Given the description of an element on the screen output the (x, y) to click on. 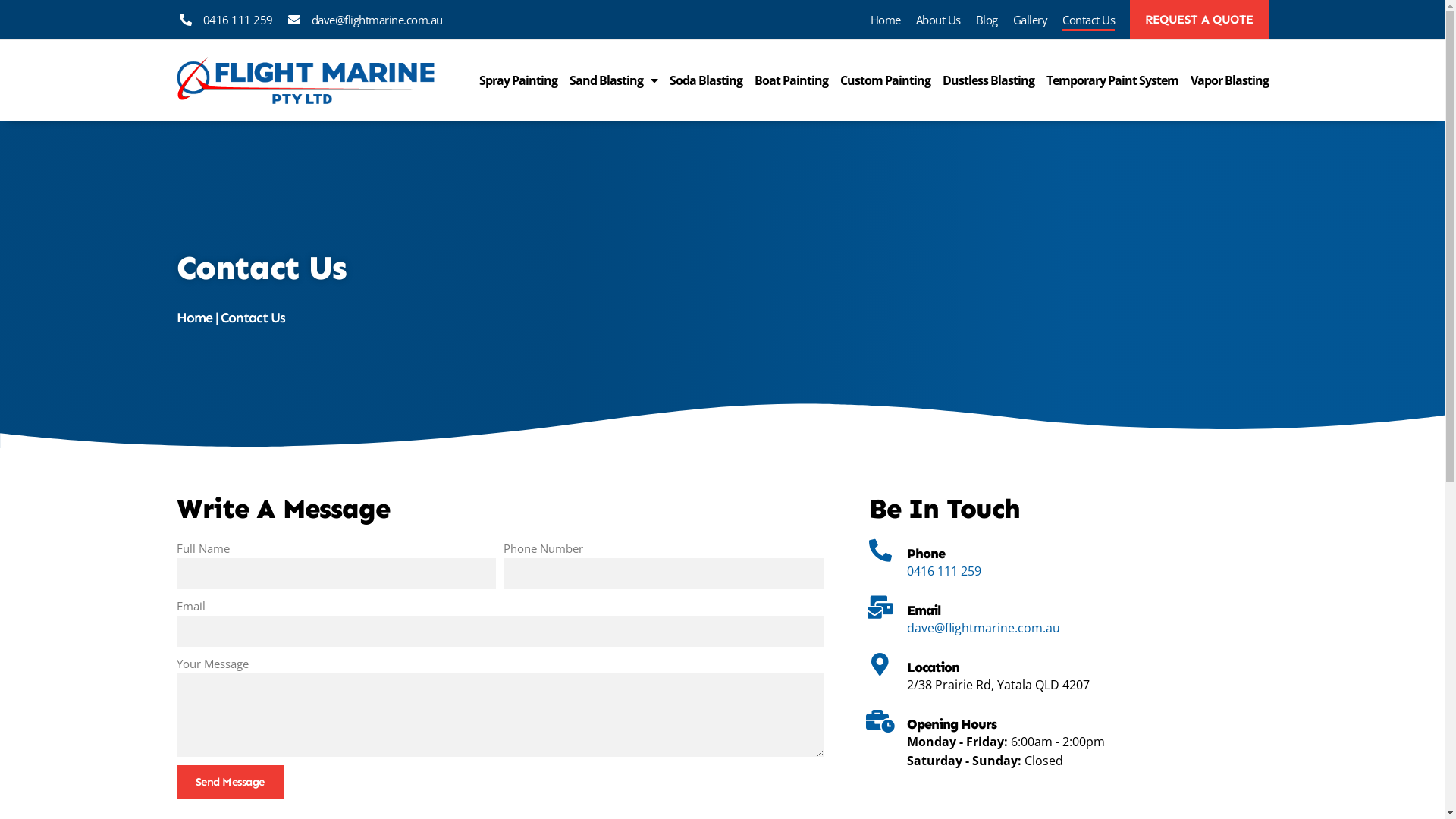
Contact Us Element type: text (1088, 20)
dave@flightmarine.com.au Element type: text (983, 627)
0416 111 259 Element type: text (943, 570)
Soda Blasting Element type: text (704, 80)
Sand Blasting Element type: text (612, 80)
About Us Element type: text (938, 20)
Phone Element type: text (925, 553)
Send Message Element type: text (228, 782)
Home Element type: text (885, 20)
Vapor Blasting Element type: text (1229, 80)
Dustless Blasting Element type: text (987, 80)
Email Element type: text (923, 610)
Blog Element type: text (986, 20)
Home Element type: text (193, 317)
Spray Painting Element type: text (518, 80)
REQUEST A QUOTE Element type: text (1198, 19)
Boat Painting Element type: text (790, 80)
Temporary Paint System Element type: text (1112, 80)
Custom Painting Element type: text (885, 80)
0416 111 259 Element type: text (223, 19)
Gallery Element type: text (1030, 20)
dave@flightmarine.com.au Element type: text (363, 19)
